Given the description of an element on the screen output the (x, y) to click on. 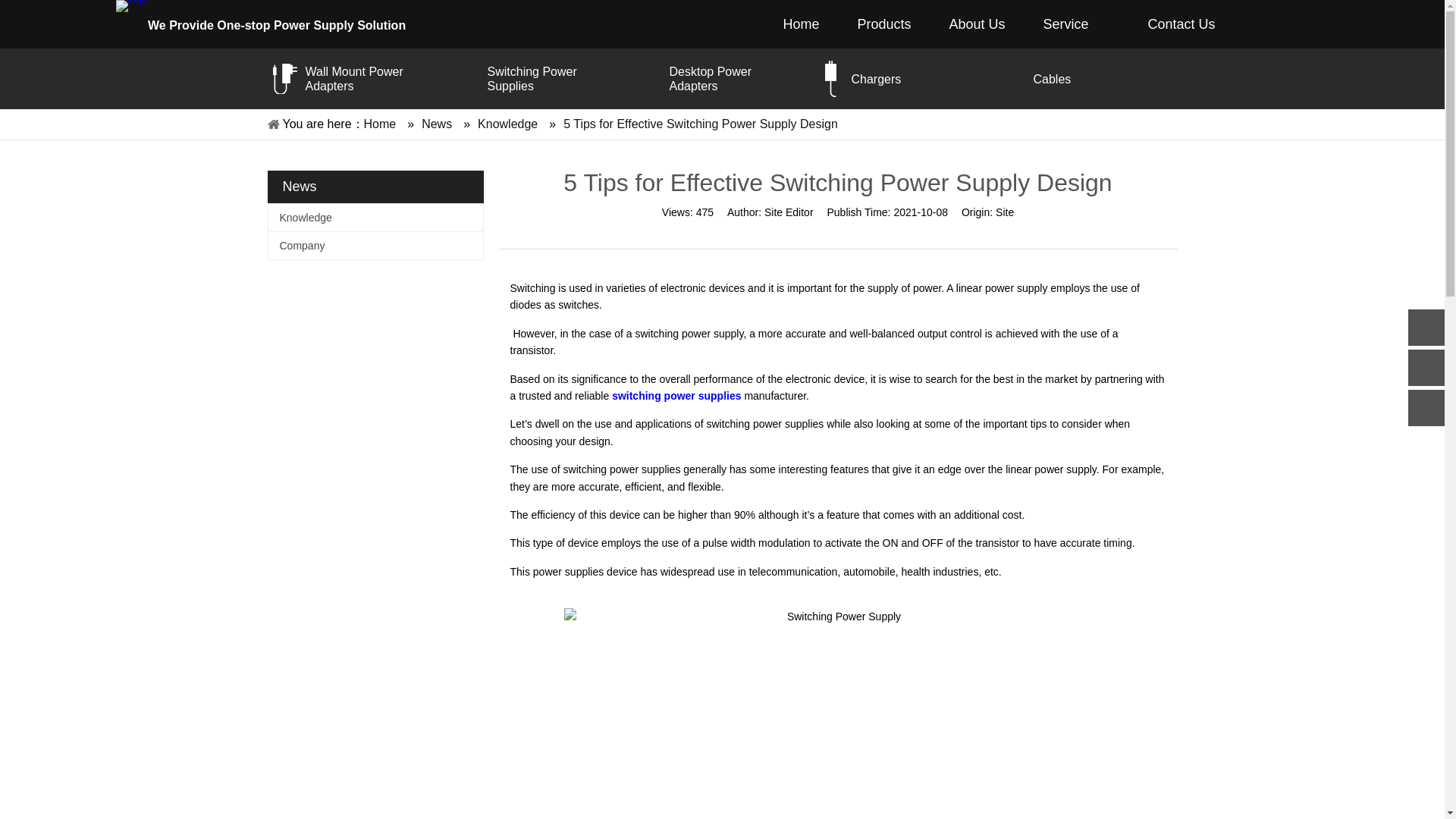
Chargers (917, 78)
Switching Power Supplies (553, 78)
Cables (1099, 78)
Company (375, 245)
News (436, 124)
switching power supplies (676, 395)
Home (380, 124)
About Us (976, 24)
Switching Power Supply (838, 713)
Home (800, 24)
